Given the description of an element on the screen output the (x, y) to click on. 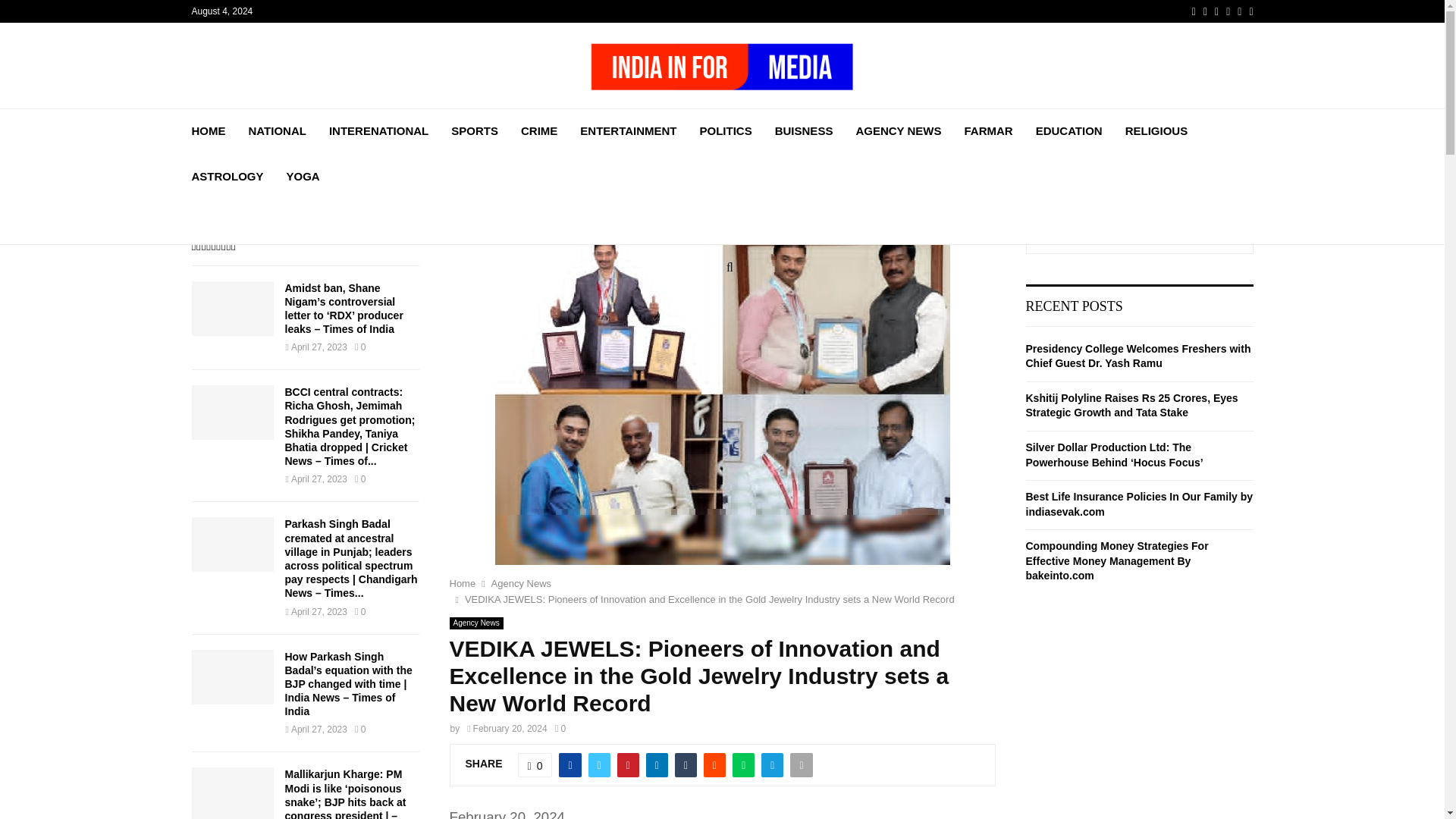
Agency News (521, 583)
ASTROLOGY (226, 176)
RELIGIOUS (1156, 130)
NATIONAL (276, 130)
Home (462, 583)
POLITICS (726, 130)
SPORTS (474, 130)
BUISNESS (803, 130)
FARMAR (987, 130)
AGENCY NEWS (898, 130)
EDUCATION (1068, 130)
ENTERTAINMENT (628, 130)
INTERENATIONAL (378, 130)
Like (535, 764)
